Given the description of an element on the screen output the (x, y) to click on. 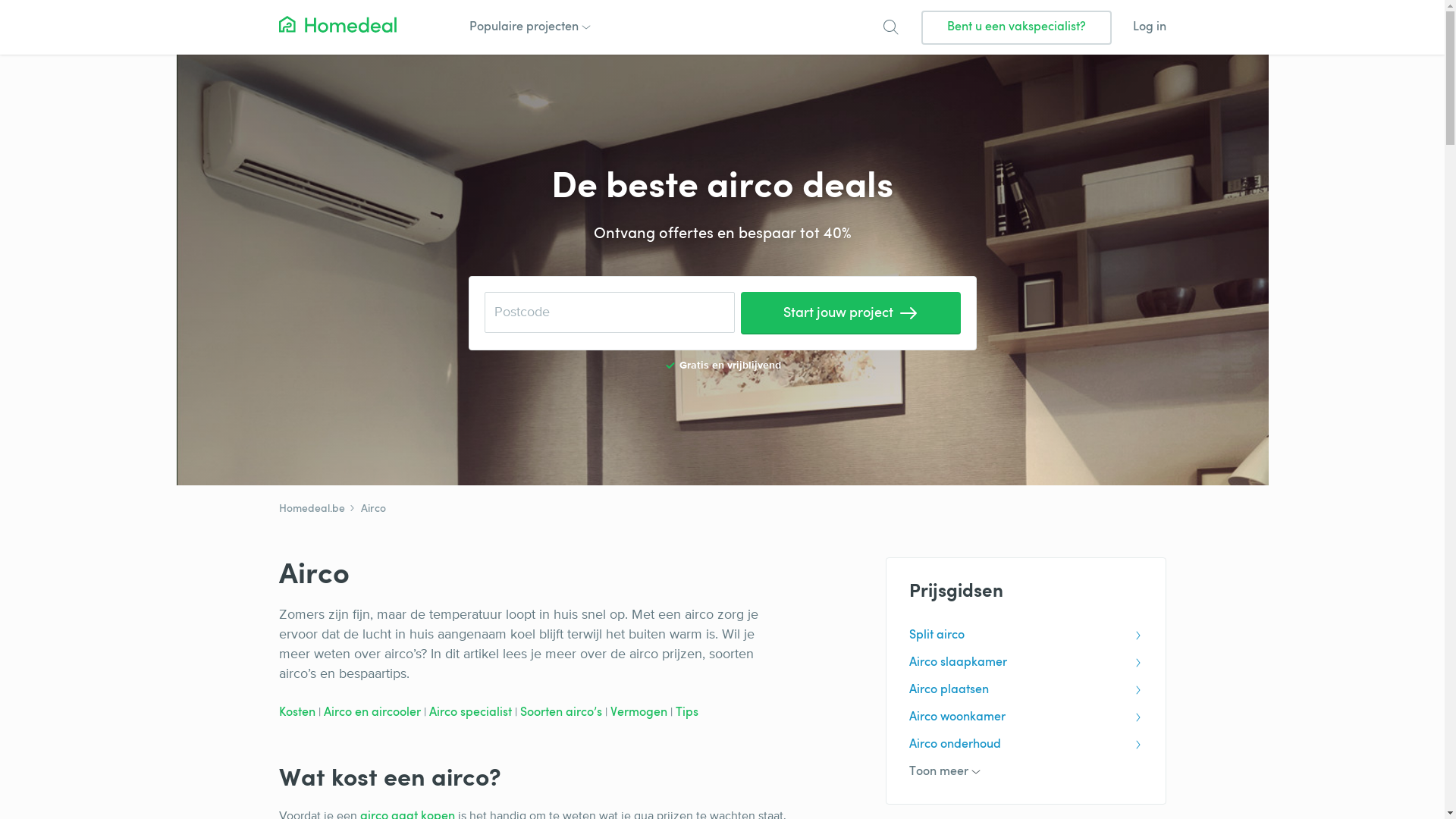
Log in Element type: text (1149, 27)
Airco en aircooler Element type: text (370, 712)
Airco plaatsen Element type: text (1025, 689)
Vermogen Element type: text (637, 712)
Split airco Element type: text (1025, 635)
Start jouw project Element type: text (850, 312)
Airco onderhoud Element type: text (1025, 744)
Kosten Element type: text (298, 712)
Toon meer Element type: text (1025, 771)
Homedeal.be Element type: text (312, 509)
Populaire projecten Element type: text (527, 27)
Tips Element type: text (685, 712)
Airco slaapkamer Element type: text (1025, 662)
Bent u een vakspecialist? Element type: text (1015, 27)
Airco specialist Element type: text (470, 712)
Airco woonkamer Element type: text (1025, 717)
